Given the description of an element on the screen output the (x, y) to click on. 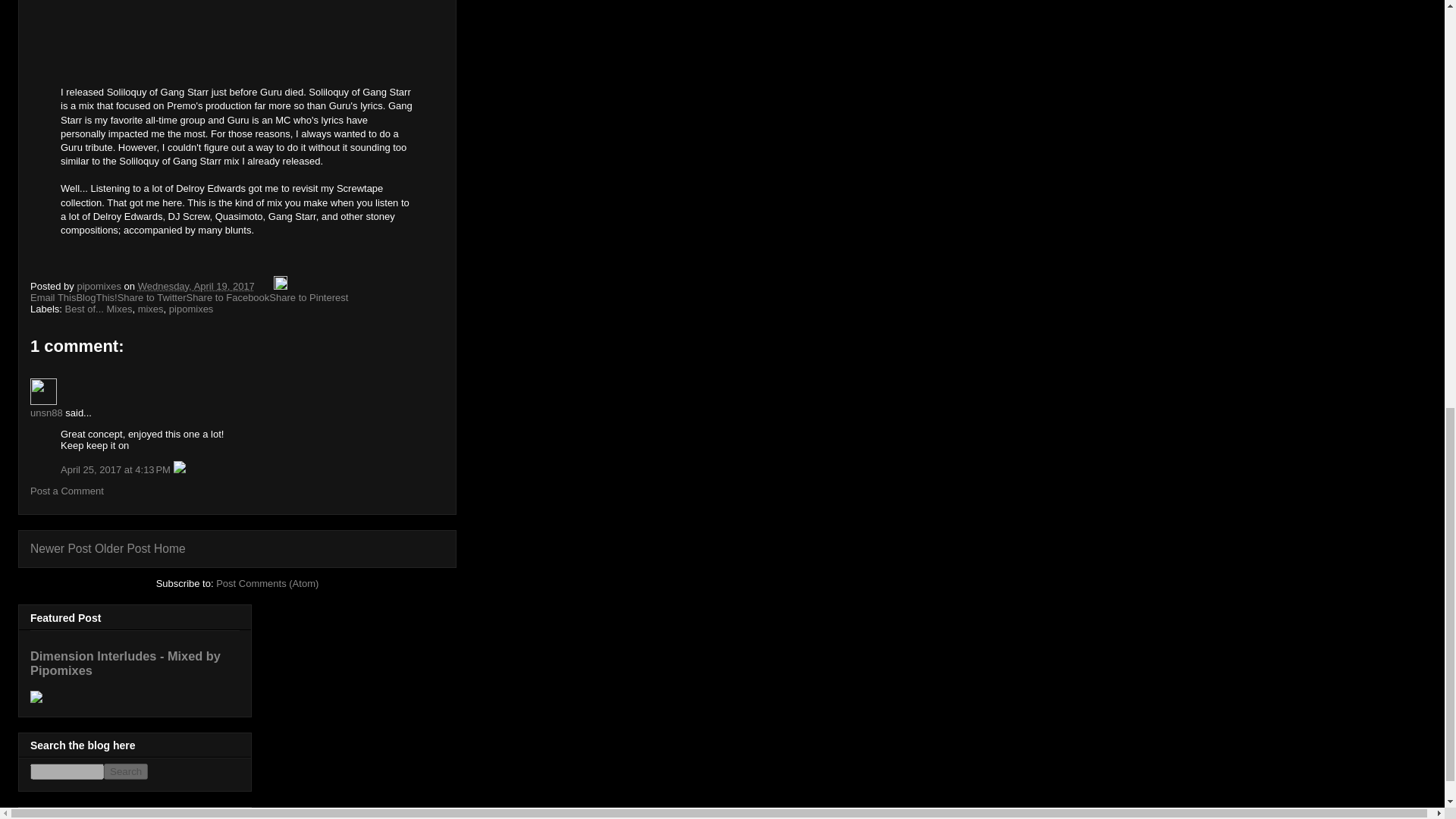
Search (125, 771)
pipomixes (100, 285)
Older Post (122, 548)
Search (125, 771)
permanent link (196, 285)
Best of... Mixes (98, 308)
search (66, 771)
Home (170, 548)
Wednesday, April 19, 2017 (196, 285)
pipomixes (191, 308)
